Given the description of an element on the screen output the (x, y) to click on. 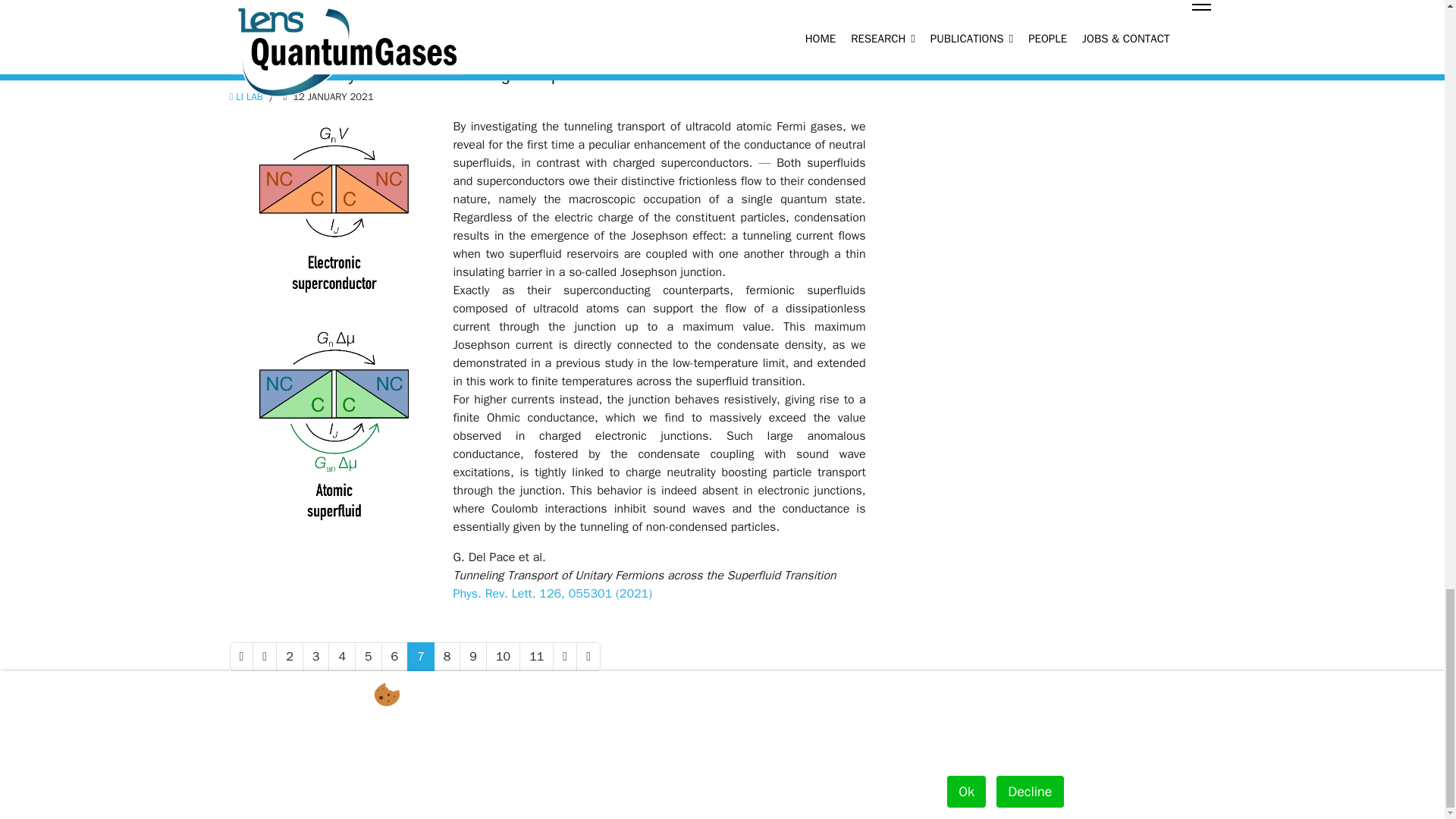
Category: Li Lab (245, 96)
Published: 12 January 2021 (318, 96)
LI LAB (245, 96)
